Given the description of an element on the screen output the (x, y) to click on. 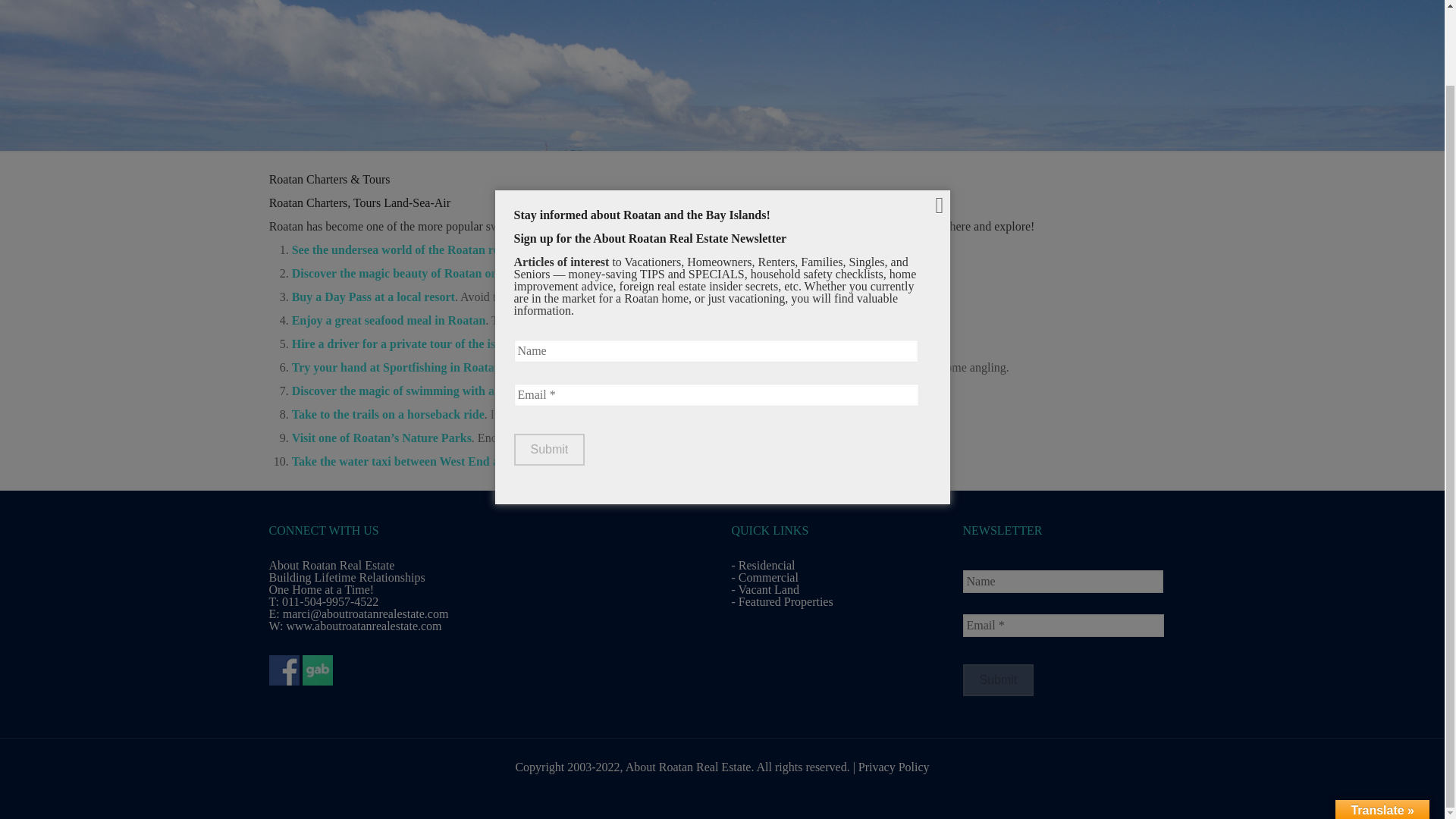
Submit (549, 365)
Residencial (766, 564)
www.libenn.com (660, 226)
www.aboutroatanrealestate.com (363, 625)
Try your hand at Sportfishing in Roatan (396, 367)
Commercial (767, 576)
Take to the trails on a horseback ride (388, 413)
Hire a driver for a private tour of the island (405, 343)
Enjoy a great seafood meal in Roatan (389, 319)
Take the water taxi between West End and West Bay (428, 461)
Discover the magic of swimming with a dolphin (414, 390)
See the undersea world of the Roatan reef (400, 249)
Buy a Day Pass at a local resort (373, 296)
Submit (997, 680)
